Given the description of an element on the screen output the (x, y) to click on. 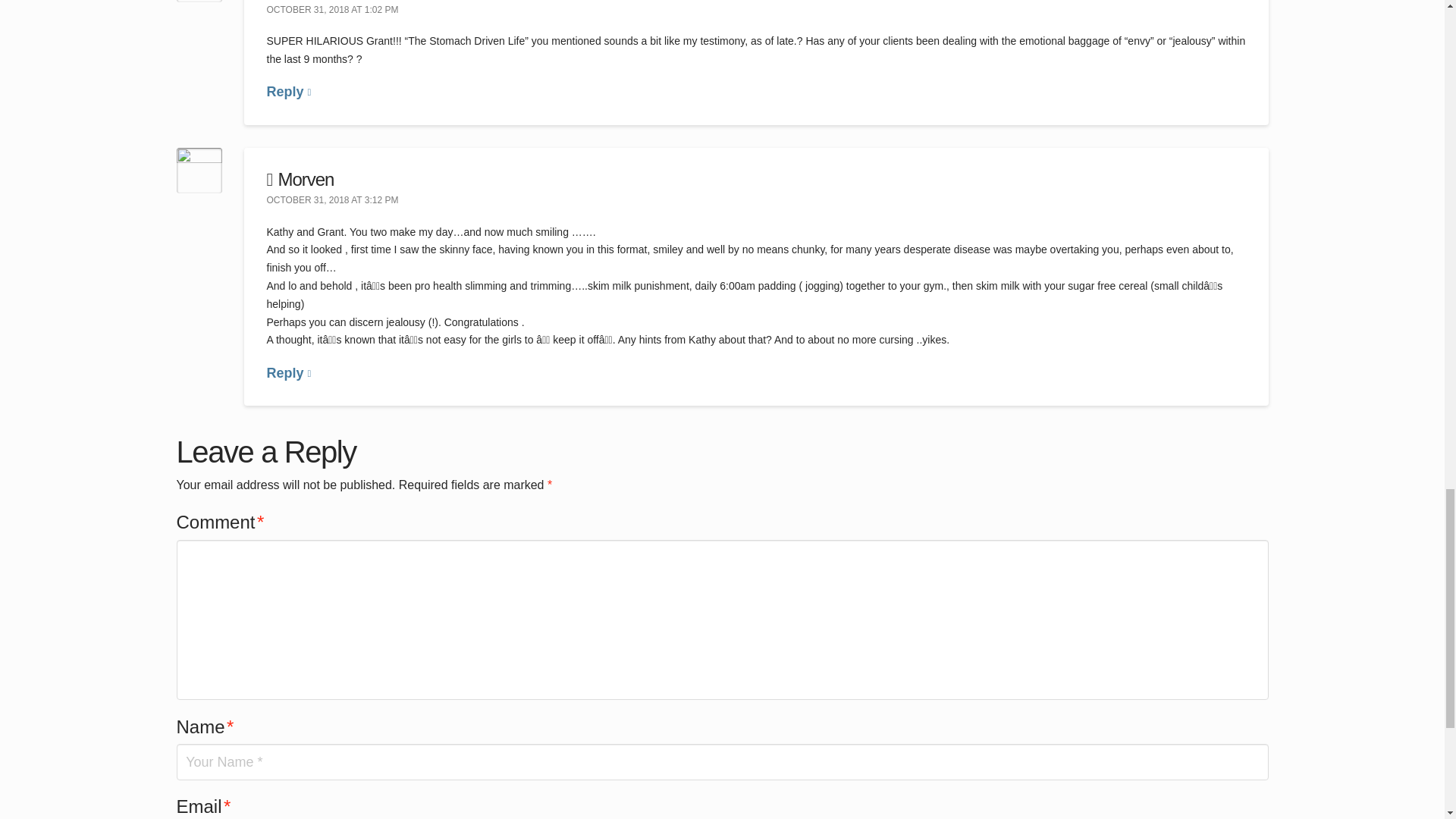
Reply (288, 372)
Reply (288, 91)
OCTOBER 31, 2018 AT 1:02 PM (332, 10)
OCTOBER 31, 2018 AT 3:12 PM (332, 200)
